Given the description of an element on the screen output the (x, y) to click on. 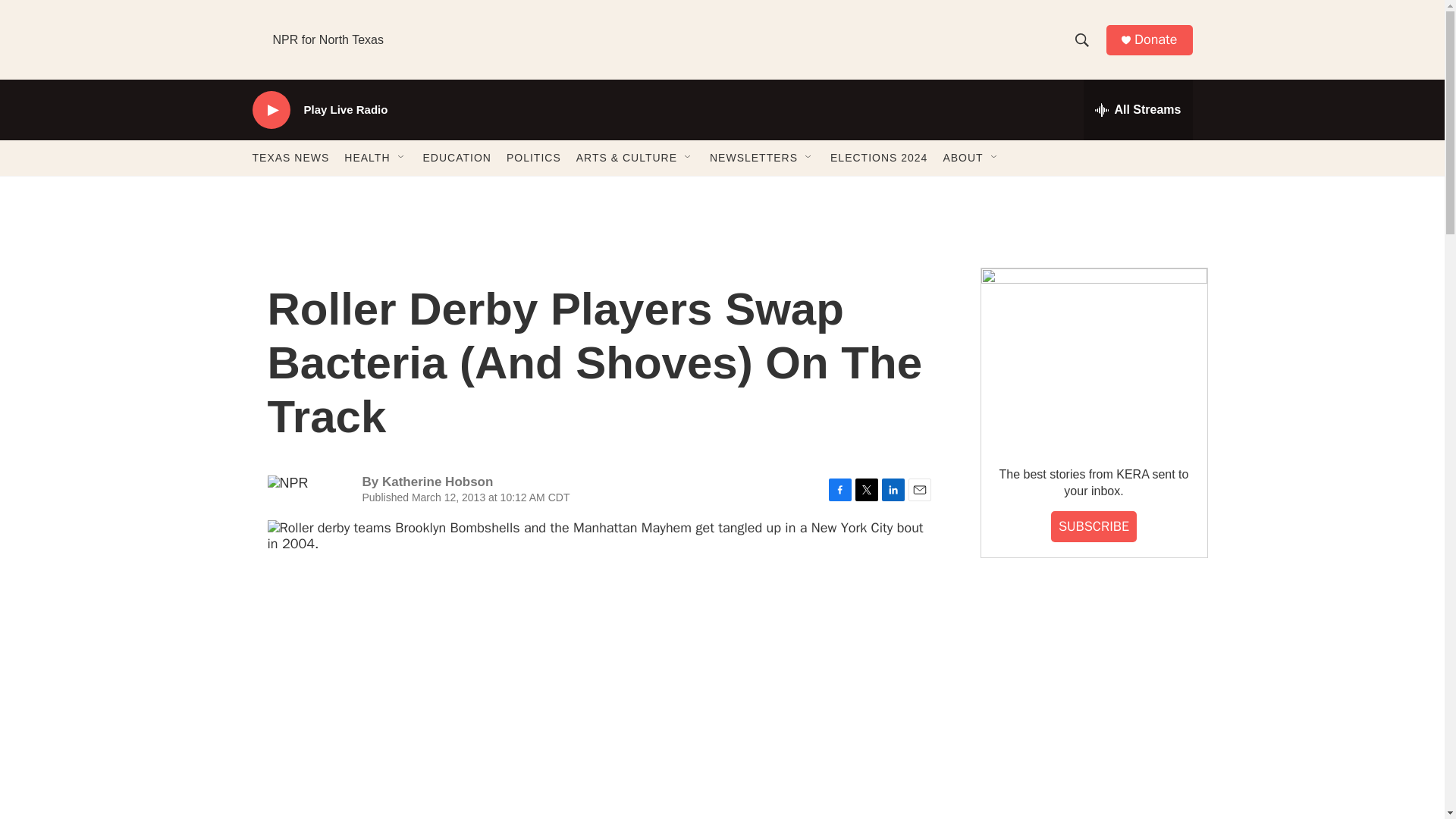
Show Search (1081, 39)
